Given the description of an element on the screen output the (x, y) to click on. 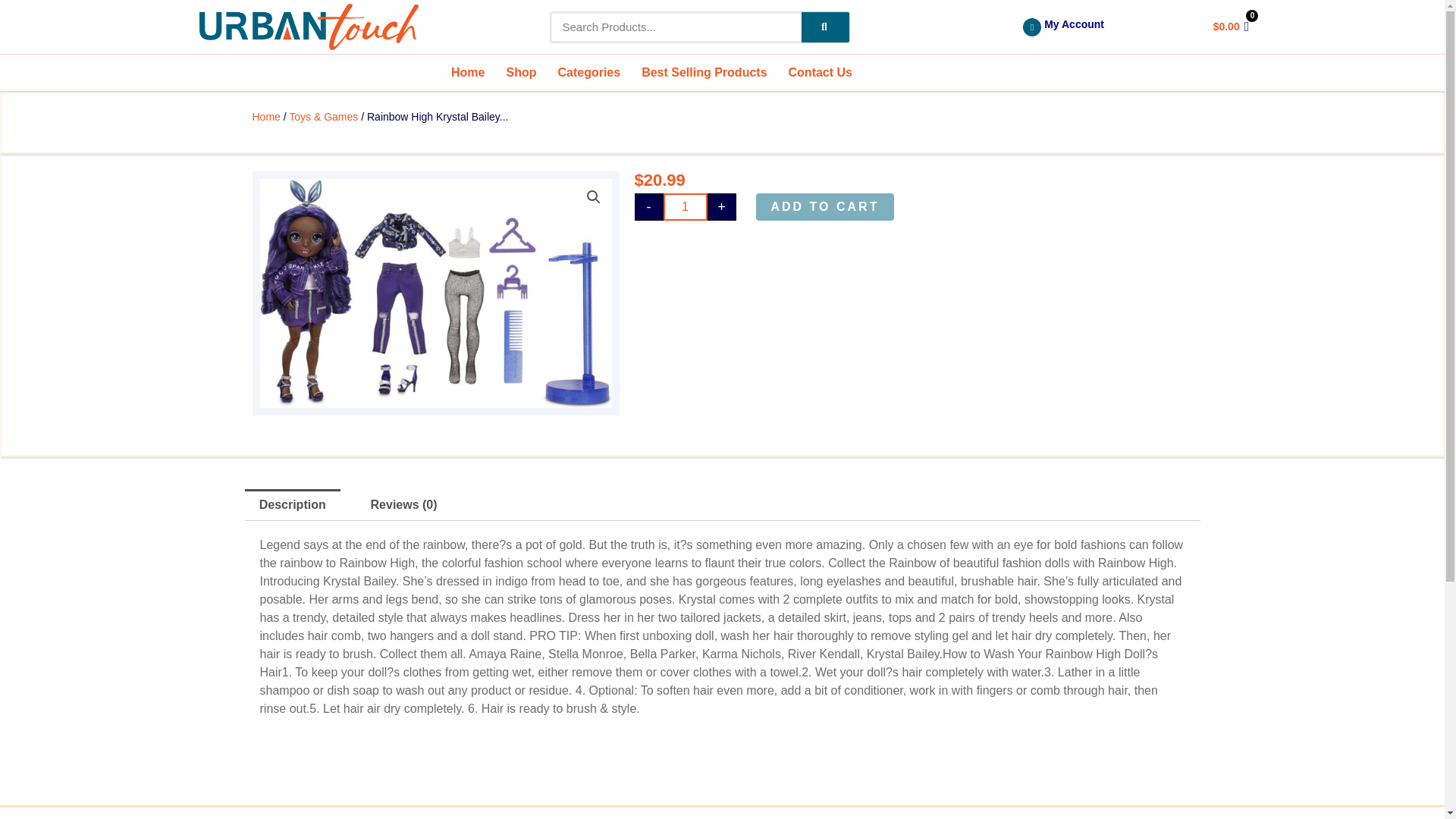
Categories (588, 72)
Home (467, 72)
1 (684, 206)
My Account (650, 72)
Home (1090, 27)
SEARCH (710, 27)
Description (265, 116)
- (825, 27)
